Given the description of an element on the screen output the (x, y) to click on. 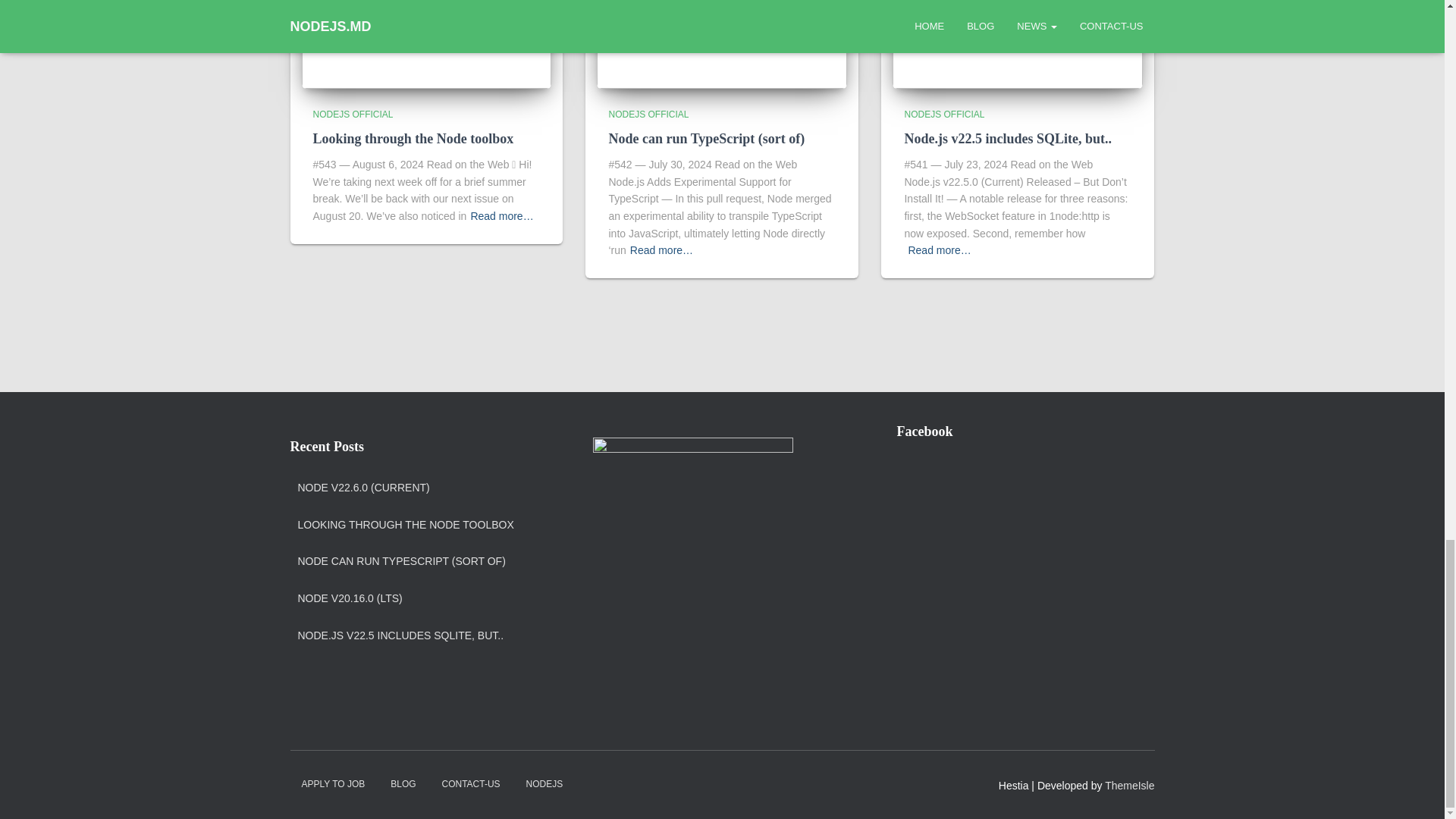
Looking through the Node toolbox (413, 138)
NODEJS OFFICIAL (944, 113)
Node.js v22.5 includes SQLite, but.. (1017, 24)
Looking through the Node toolbox (413, 138)
View all posts in NodeJS Official (944, 113)
Node.js v22.5 includes SQLite, but.. (1008, 138)
Looking through the Node toolbox (426, 24)
NODEJS OFFICIAL (353, 113)
View all posts in NodeJS Official (353, 113)
NODEJS OFFICIAL (648, 113)
